Given the description of an element on the screen output the (x, y) to click on. 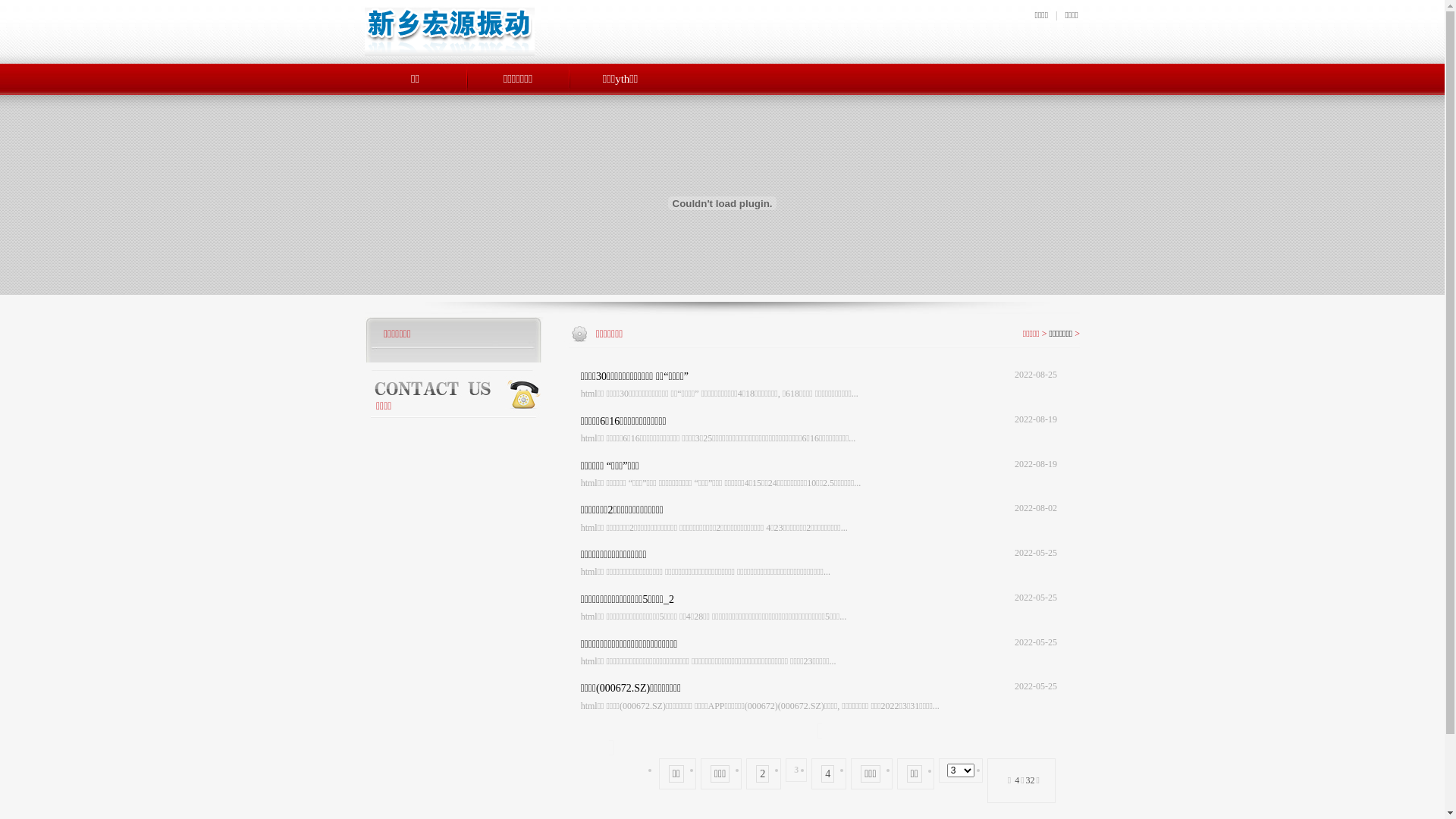
2 Element type: text (762, 773)
4 Element type: text (827, 773)
